Given the description of an element on the screen output the (x, y) to click on. 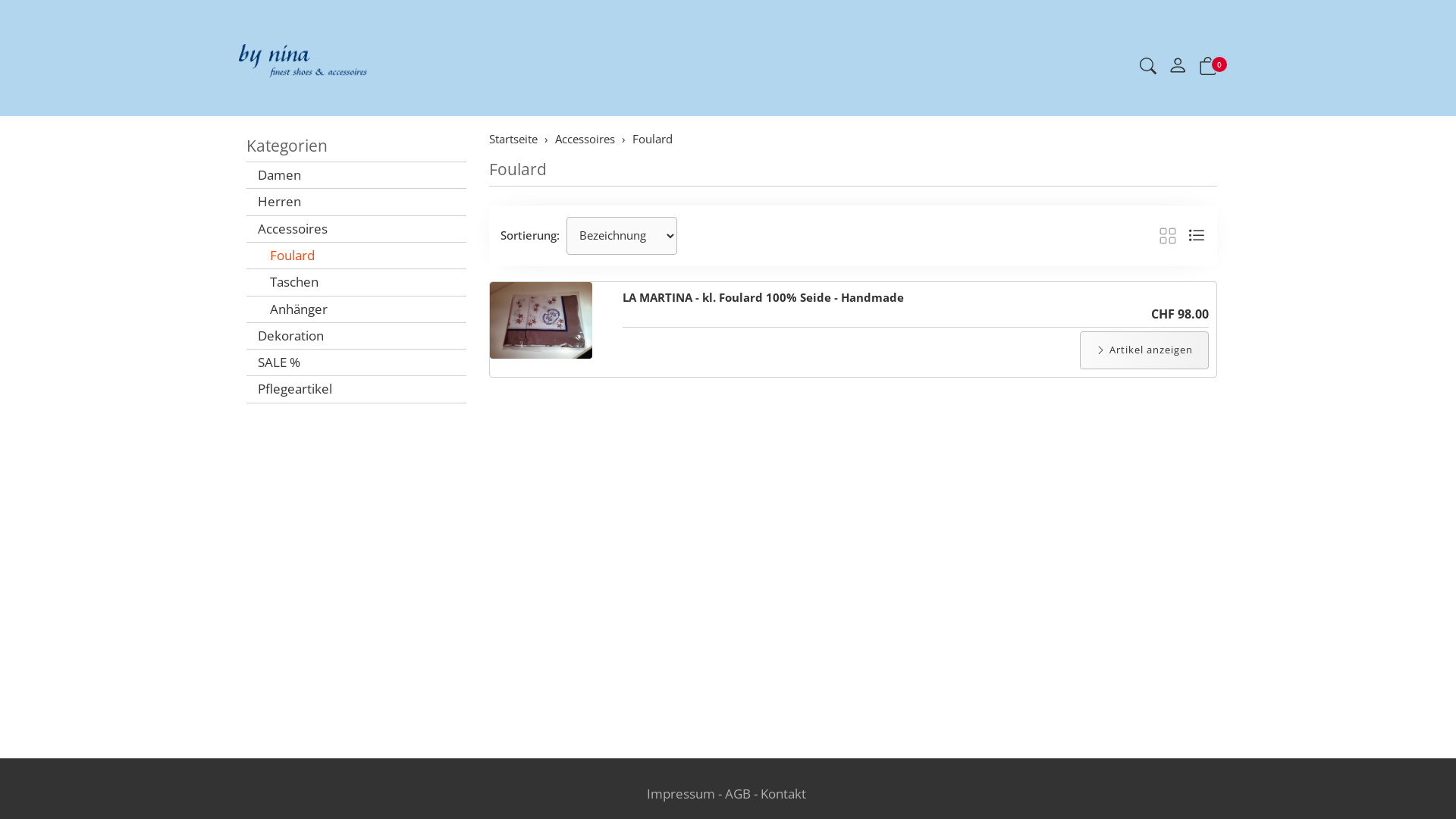
Pflegeartikel Element type: text (356, 388)
AGB Element type: text (737, 793)
Accessoires Element type: text (585, 138)
Herren Element type: text (356, 201)
Foulard Element type: text (356, 255)
LA MARTINA - kl. Foulard 100% Seide - Handmade Element type: text (762, 296)
Foulard Element type: text (517, 168)
Mein Konto Element type: hover (1177, 67)
CHF 98.00 Element type: text (1179, 313)
0 Element type: text (1207, 67)
Foulard Element type: text (652, 138)
Damen Element type: text (356, 175)
Impressum Element type: text (680, 793)
Dekoration Element type: text (356, 335)
Kachelansicht Element type: hover (1167, 235)
Listenansicht Element type: hover (1196, 235)
Kontakt Element type: text (783, 793)
Artikel anzeigen Element type: text (1143, 350)
SALE % Element type: text (356, 362)
Taschen Element type: text (356, 281)
Startseite Element type: text (513, 138)
Accessoires Element type: text (356, 228)
Suche Element type: hover (1147, 67)
